Given the description of an element on the screen output the (x, y) to click on. 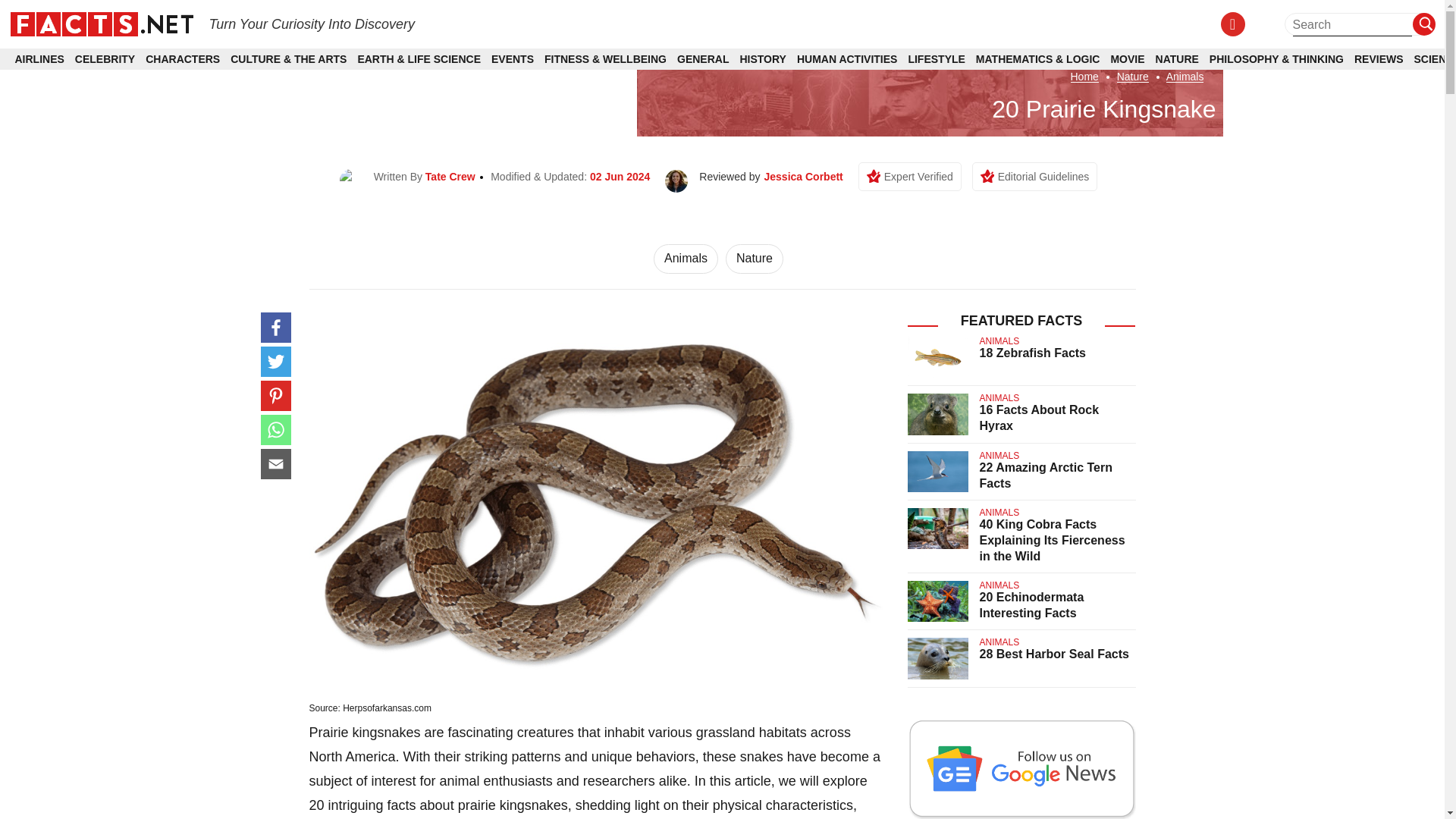
16 Facts About Rock Hyrax  (1039, 417)
40 King Cobra Facts Explaining Its Fierceness in the Wild  (1052, 539)
GENERAL (703, 59)
18 Zebrafish Facts  (1032, 352)
CHARACTERS (182, 59)
22 Amazing Arctic Tern Facts  (1045, 475)
LIFESTYLE (935, 59)
HISTORY (762, 59)
EVENTS (513, 59)
CELEBRITY (105, 59)
